Given the description of an element on the screen output the (x, y) to click on. 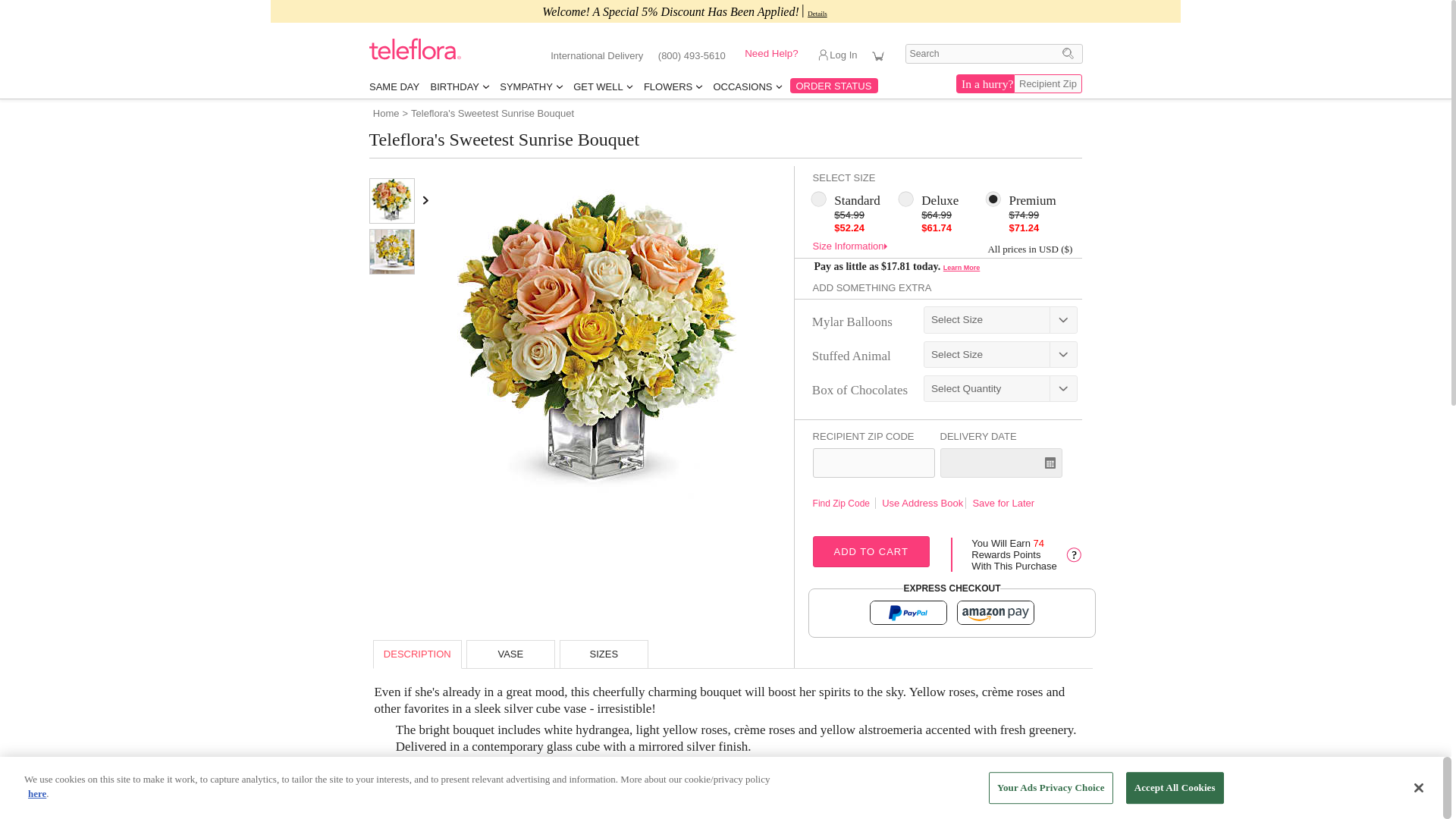
search (994, 53)
SYMPATHY (531, 86)
Details (817, 13)
Need Help? (770, 52)
International Delivery (596, 55)
Add to Cart (871, 551)
SAME DAY (394, 86)
International Delivery (596, 55)
Log In (844, 58)
Go (1067, 53)
Paypal logo (908, 612)
Pay with AmazonPay (994, 612)
Teleflora logo (415, 56)
BIRTHDAY (459, 86)
